Given the description of an element on the screen output the (x, y) to click on. 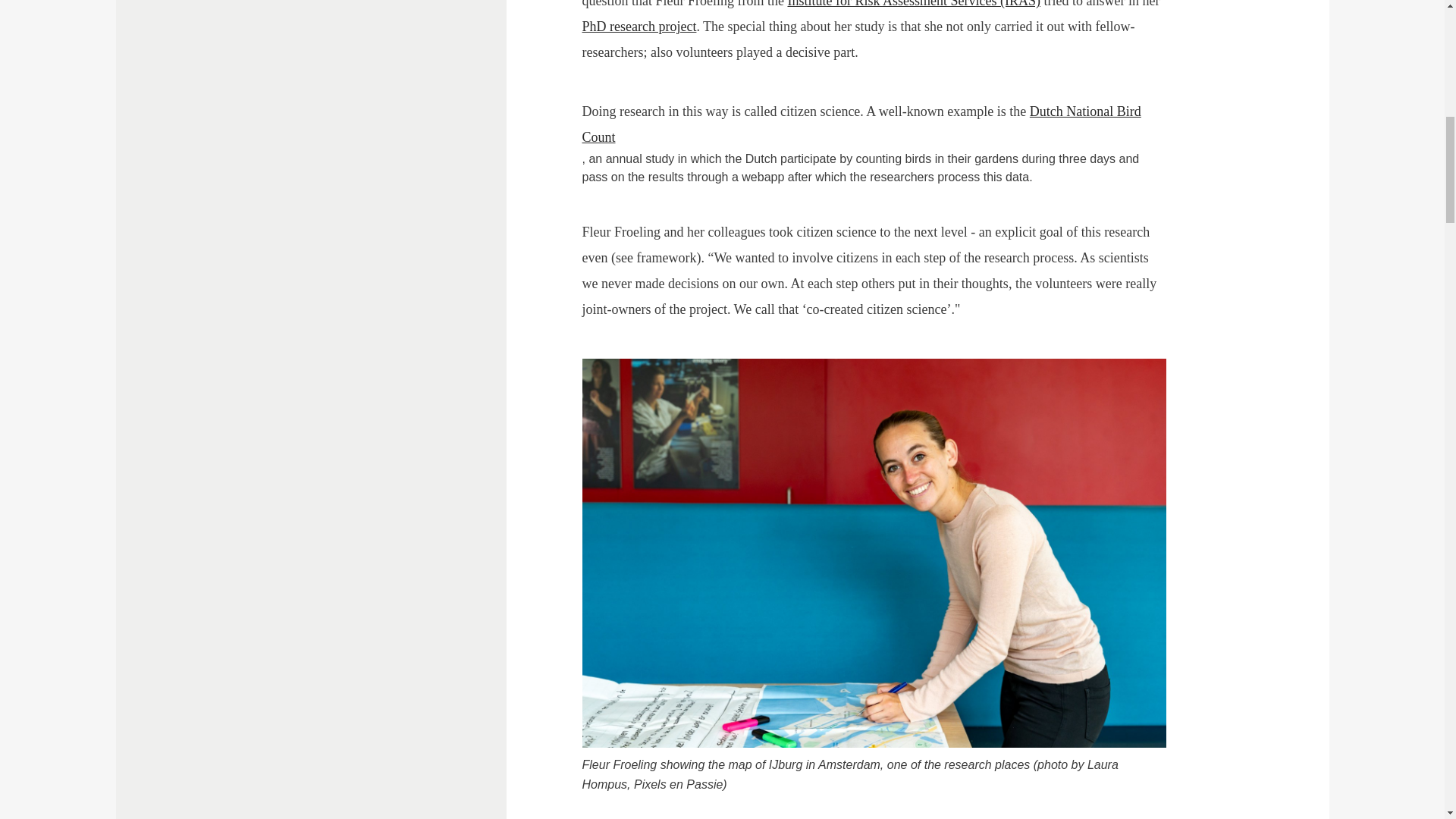
Dutch National Bird Count (861, 124)
PhD research project (639, 26)
